Given the description of an element on the screen output the (x, y) to click on. 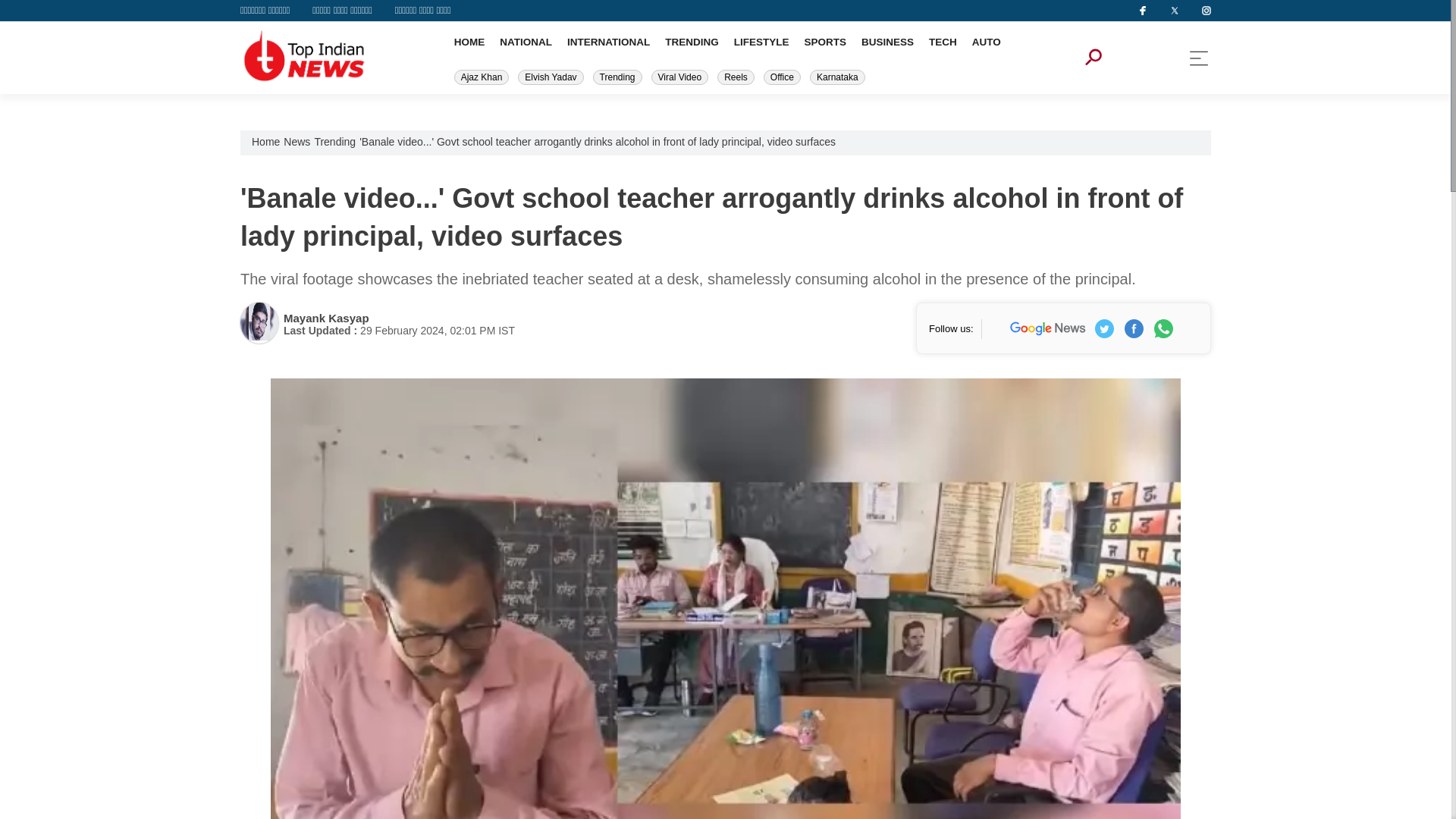
Elvish Yadav (550, 77)
Home (265, 141)
Reels (735, 77)
Ajaz Khan (481, 77)
Top Indian News twitter (1104, 327)
TECH (942, 41)
HOME (469, 41)
Trending (334, 141)
Viral Video (679, 77)
Office (781, 77)
News (296, 141)
TRENDING (692, 41)
Trending (617, 77)
SPORTS (824, 41)
INTERNATIONAL (608, 41)
